Given the description of an element on the screen output the (x, y) to click on. 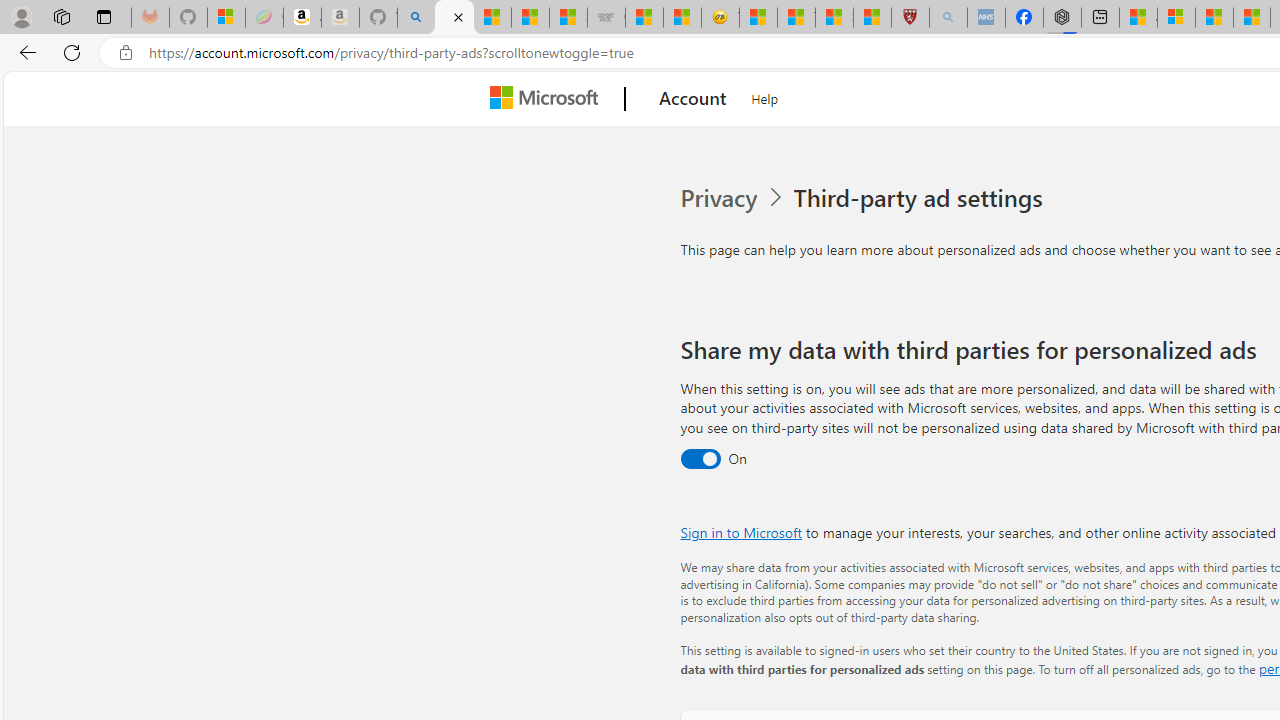
Third party data sharing toggle (699, 459)
